Given the description of an element on the screen output the (x, y) to click on. 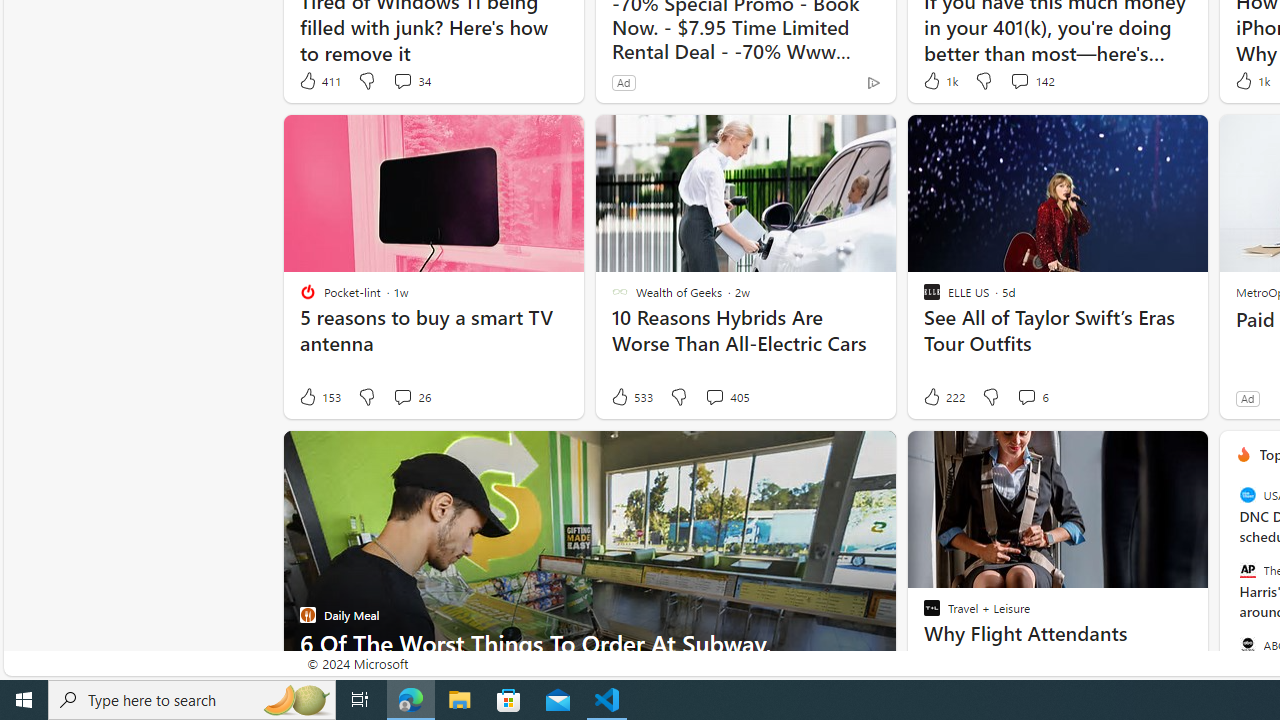
View comments 26 Comment (411, 397)
USA TODAY (1247, 494)
View comments 6 Comment (1026, 396)
The Associated Press (1247, 570)
View comments 6 Comment (1032, 397)
1k Like (1250, 80)
View comments 26 Comment (402, 396)
533 Like (630, 397)
411 Like (319, 80)
